Given the description of an element on the screen output the (x, y) to click on. 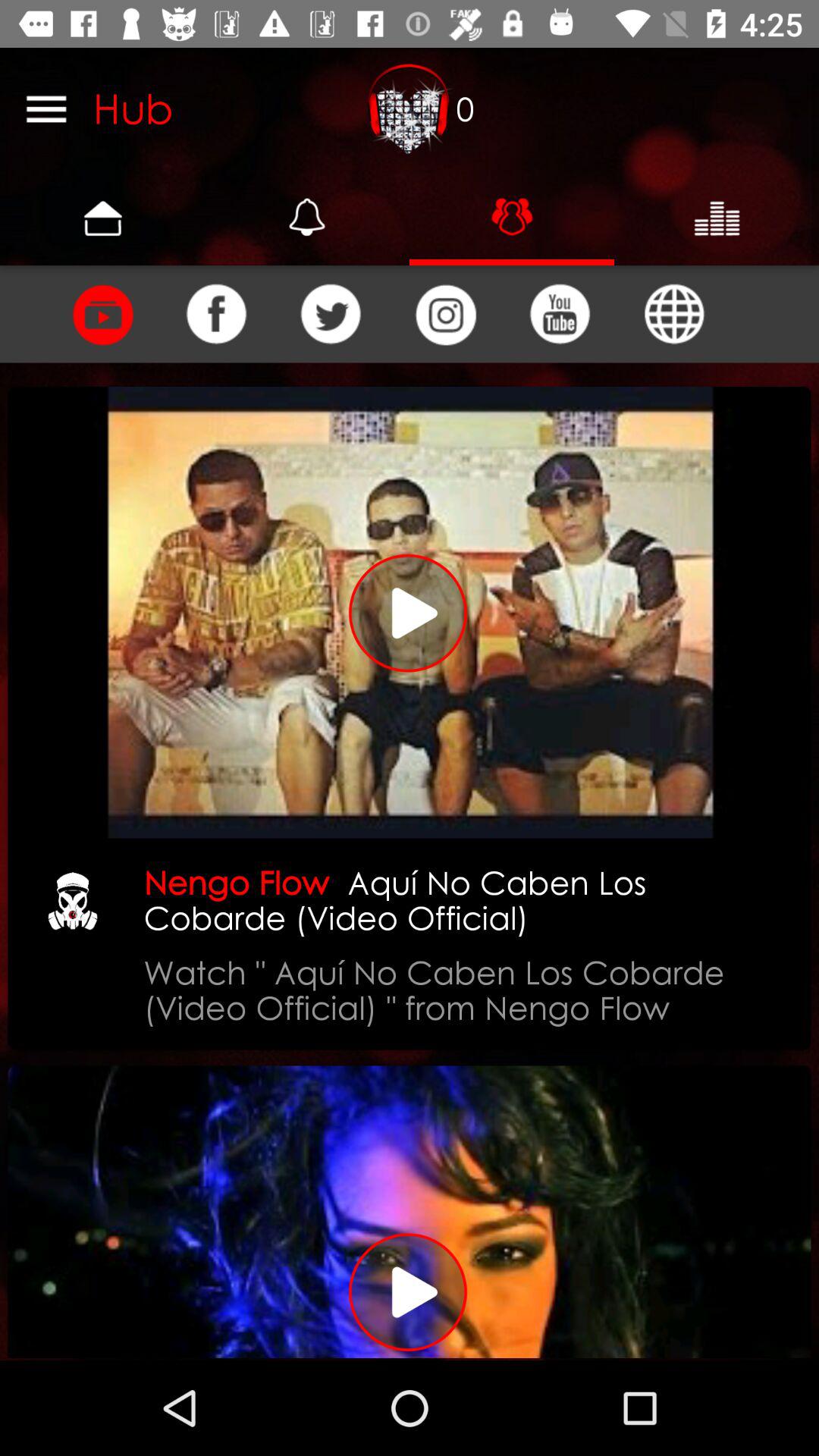
select playlist view (101, 313)
